Given the description of an element on the screen output the (x, y) to click on. 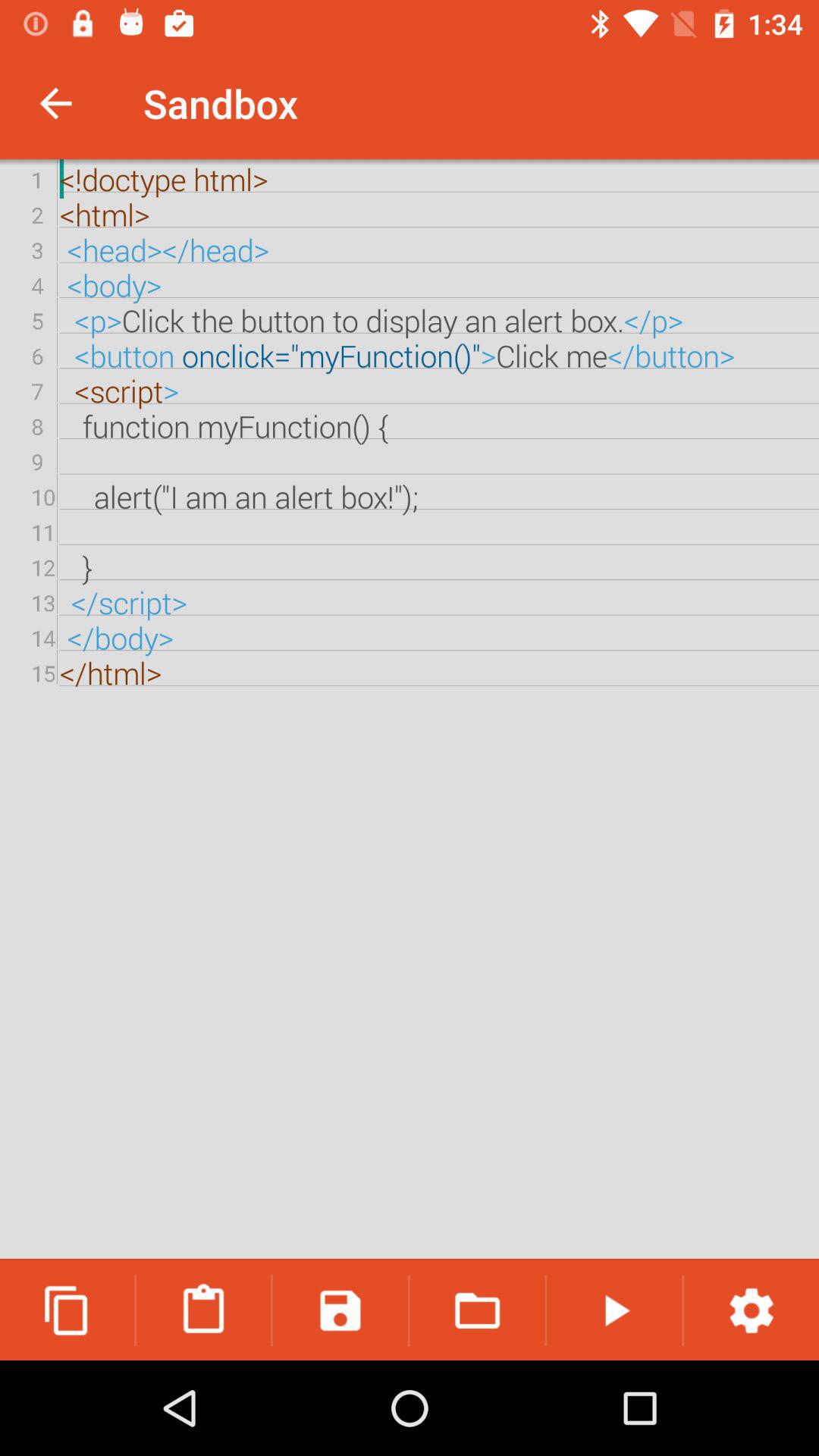
open icon below the doctype html html item (751, 1310)
